Given the description of an element on the screen output the (x, y) to click on. 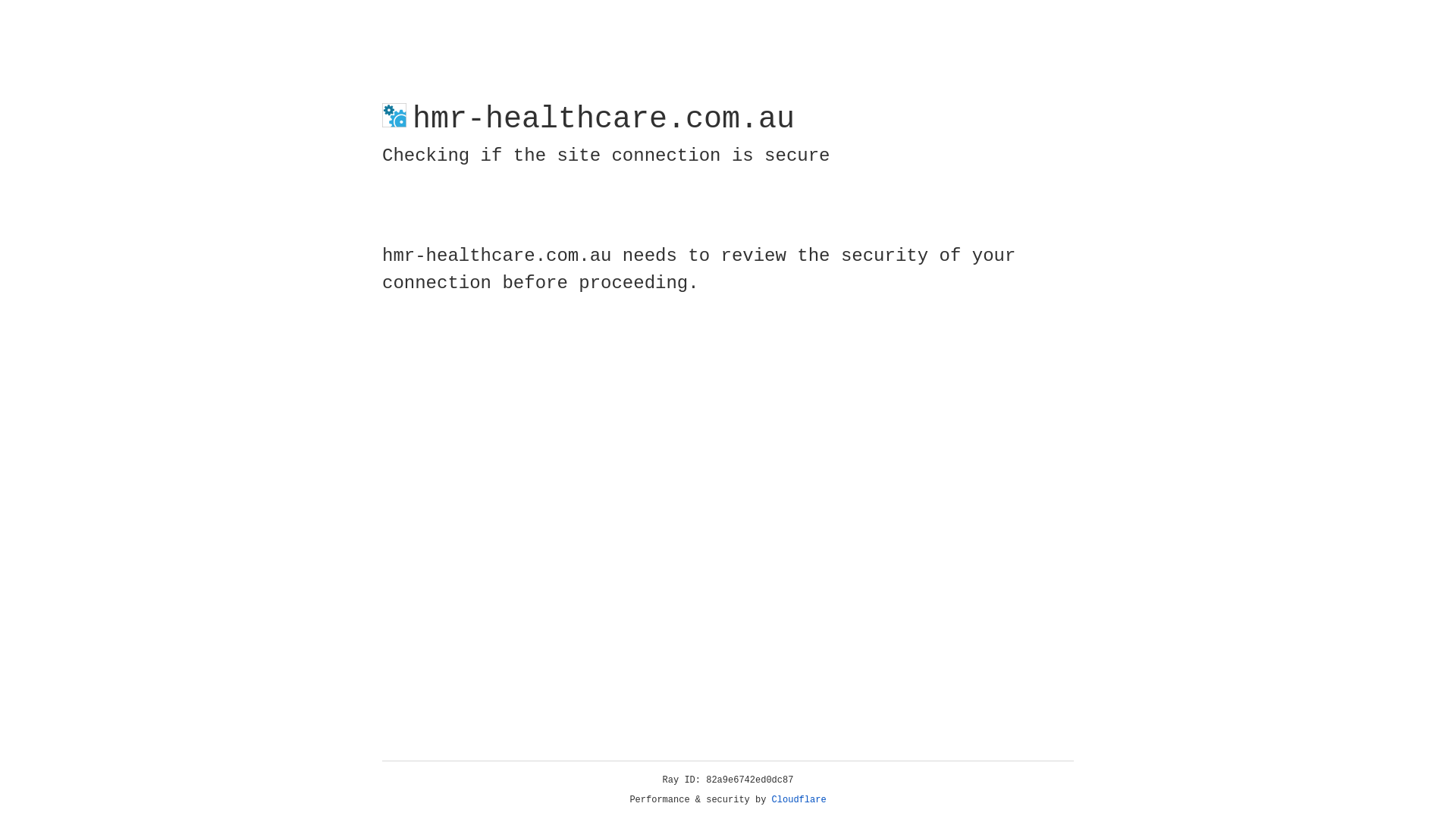
Cloudflare Element type: text (798, 799)
